Given the description of an element on the screen output the (x, y) to click on. 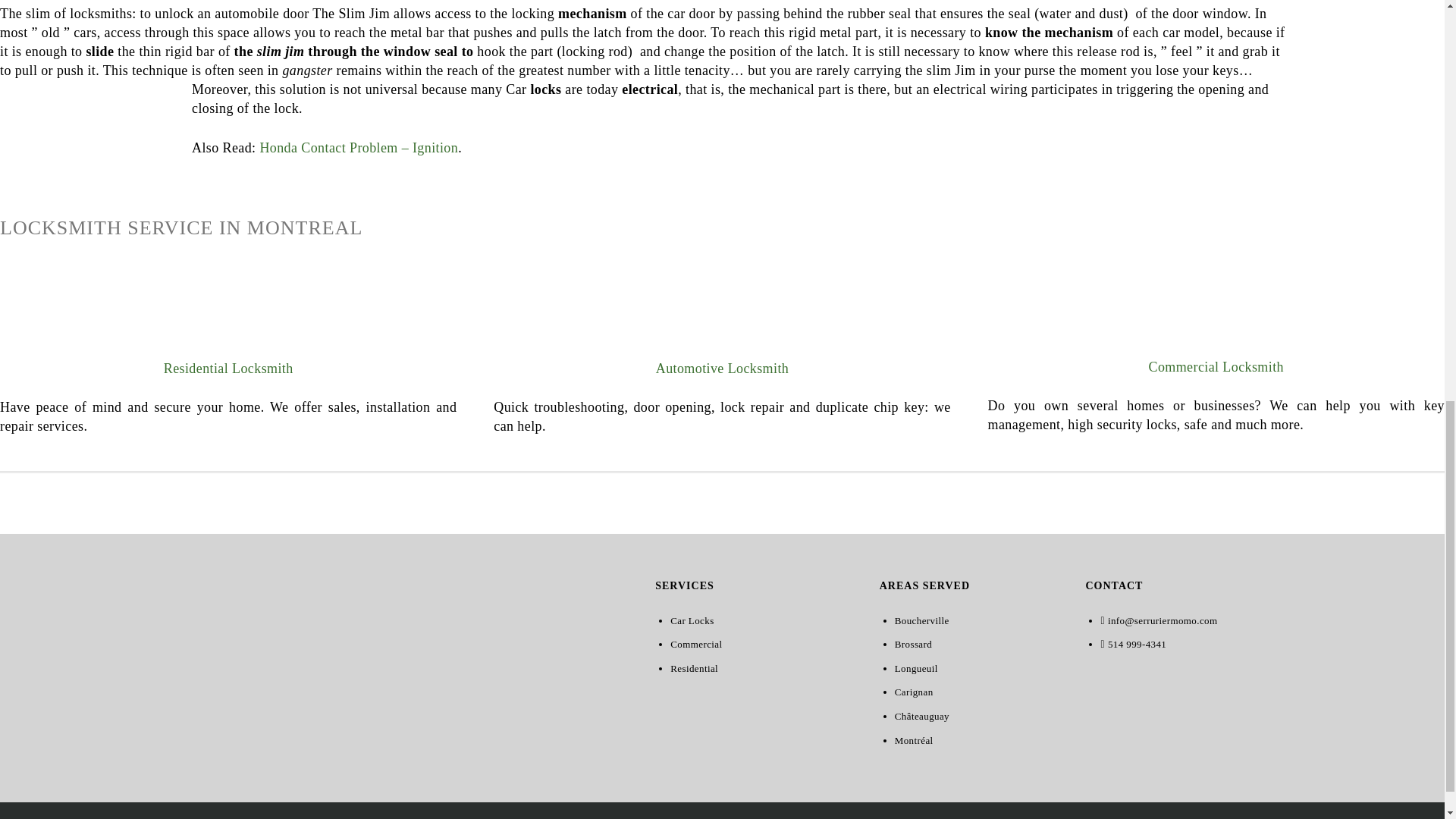
Residential Locksmith (228, 368)
